Given the description of an element on the screen output the (x, y) to click on. 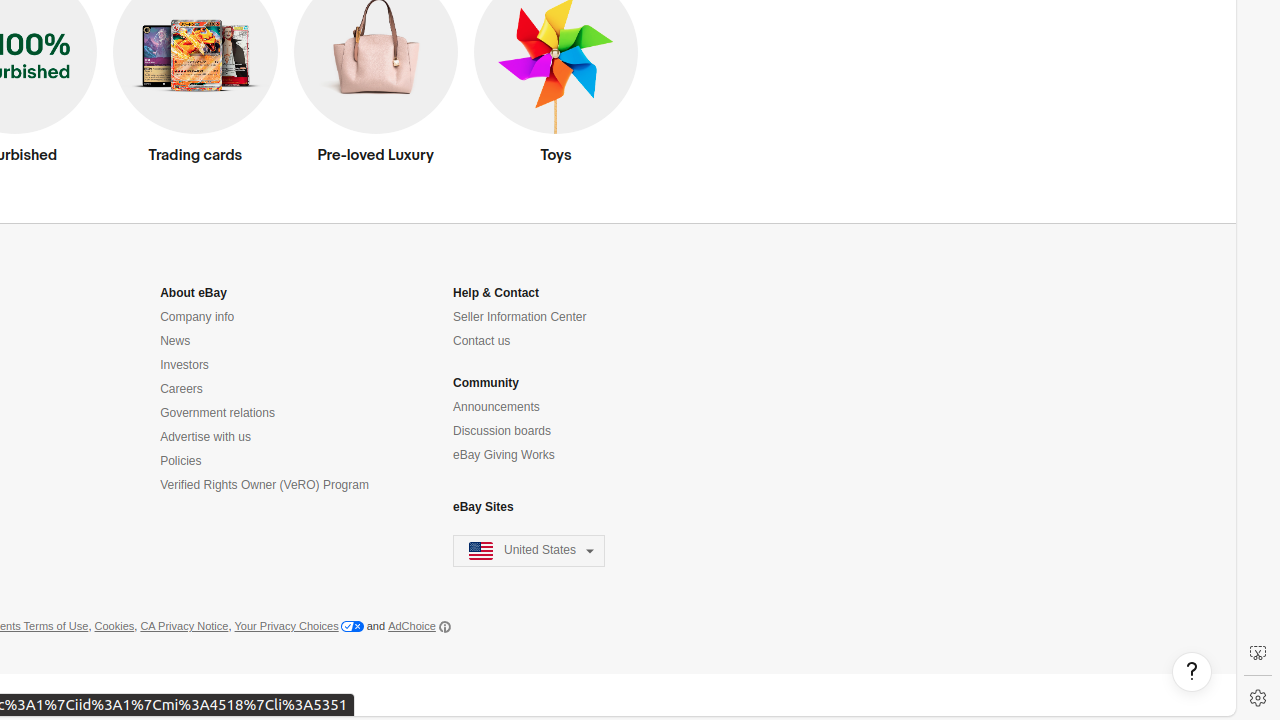
Settings Element type: push-button (1258, 698)
Screenshot Element type: push-button (1258, 653)
Policies Element type: link (181, 461)
News Element type: link (175, 341)
Cookies Element type: link (114, 627)
